Given the description of an element on the screen output the (x, y) to click on. 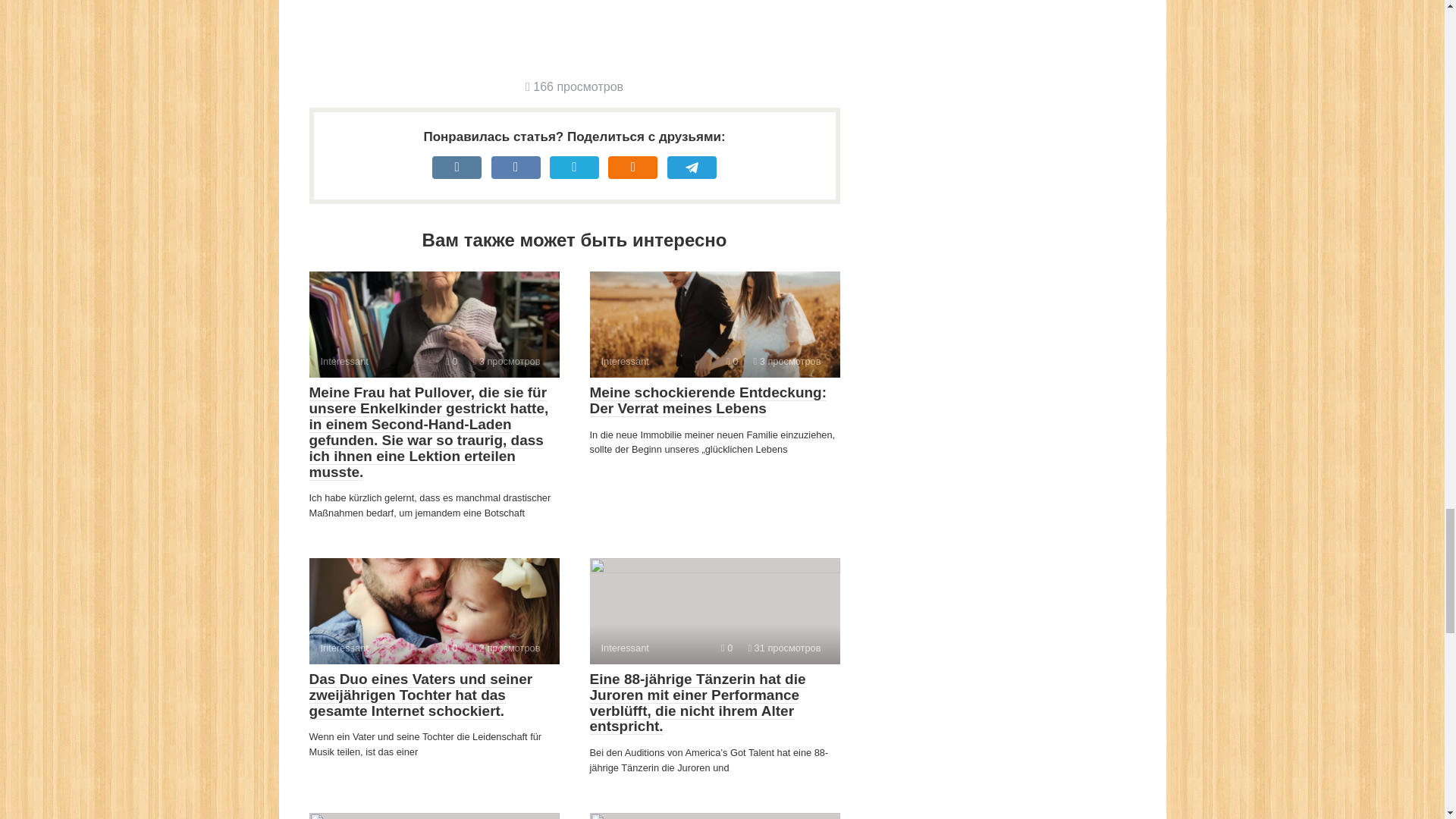
Meine schockierende Entdeckung: Der Verrat meines Lebens (708, 400)
Advertisement (585, 29)
